Given the description of an element on the screen output the (x, y) to click on. 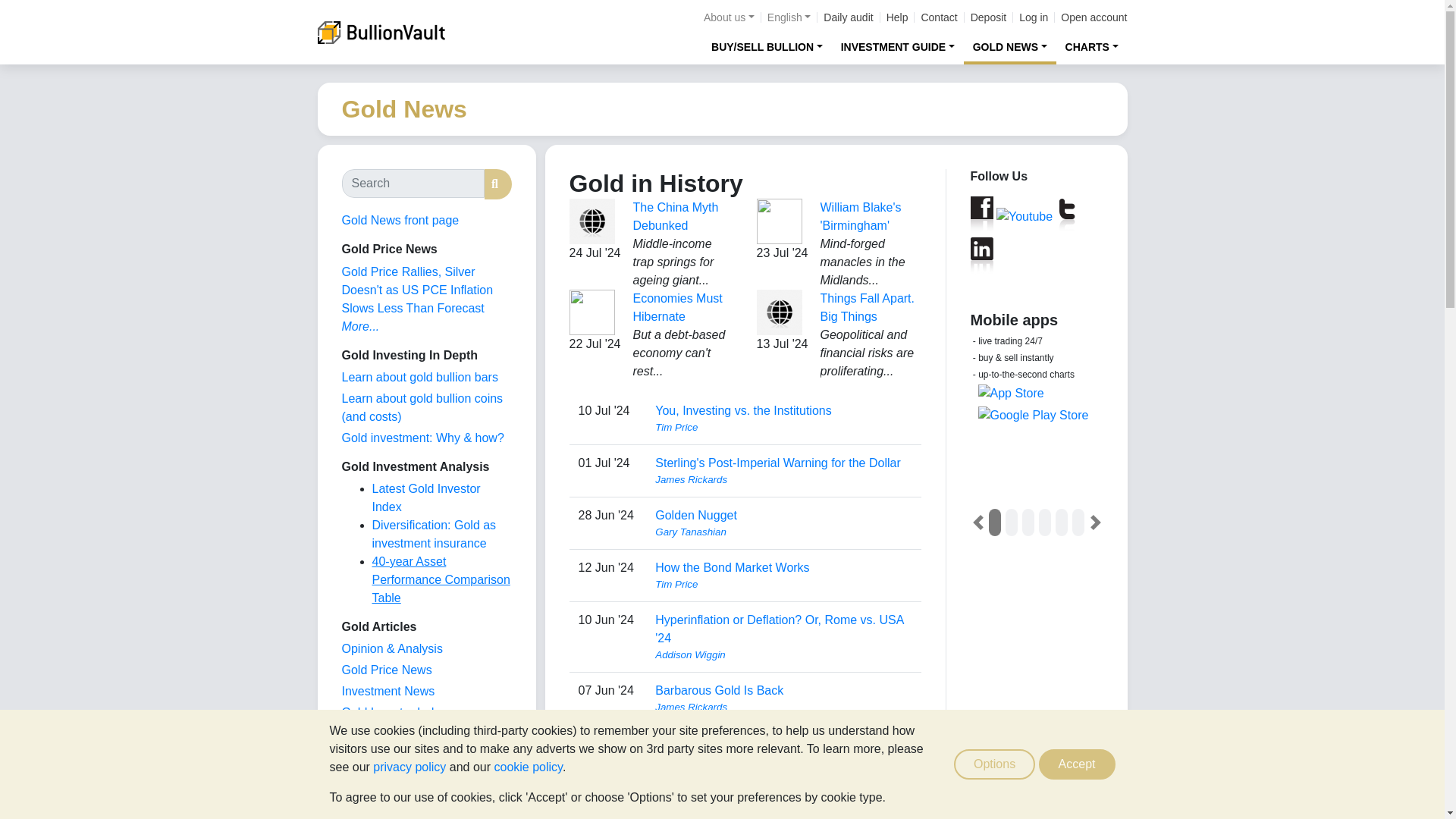
View user profile. (783, 427)
Gold Investor Index (393, 712)
Market Fundamentals (399, 754)
Gold in History (380, 775)
Gold Infographics (387, 733)
Log in (1033, 17)
View user profile. (783, 479)
Options (994, 764)
The View from the Vault (391, 648)
English (788, 17)
privacy policy (408, 766)
cookie policy (528, 766)
View user profile. (783, 777)
View user profile. (783, 531)
Open account (1093, 17)
